Given the description of an element on the screen output the (x, y) to click on. 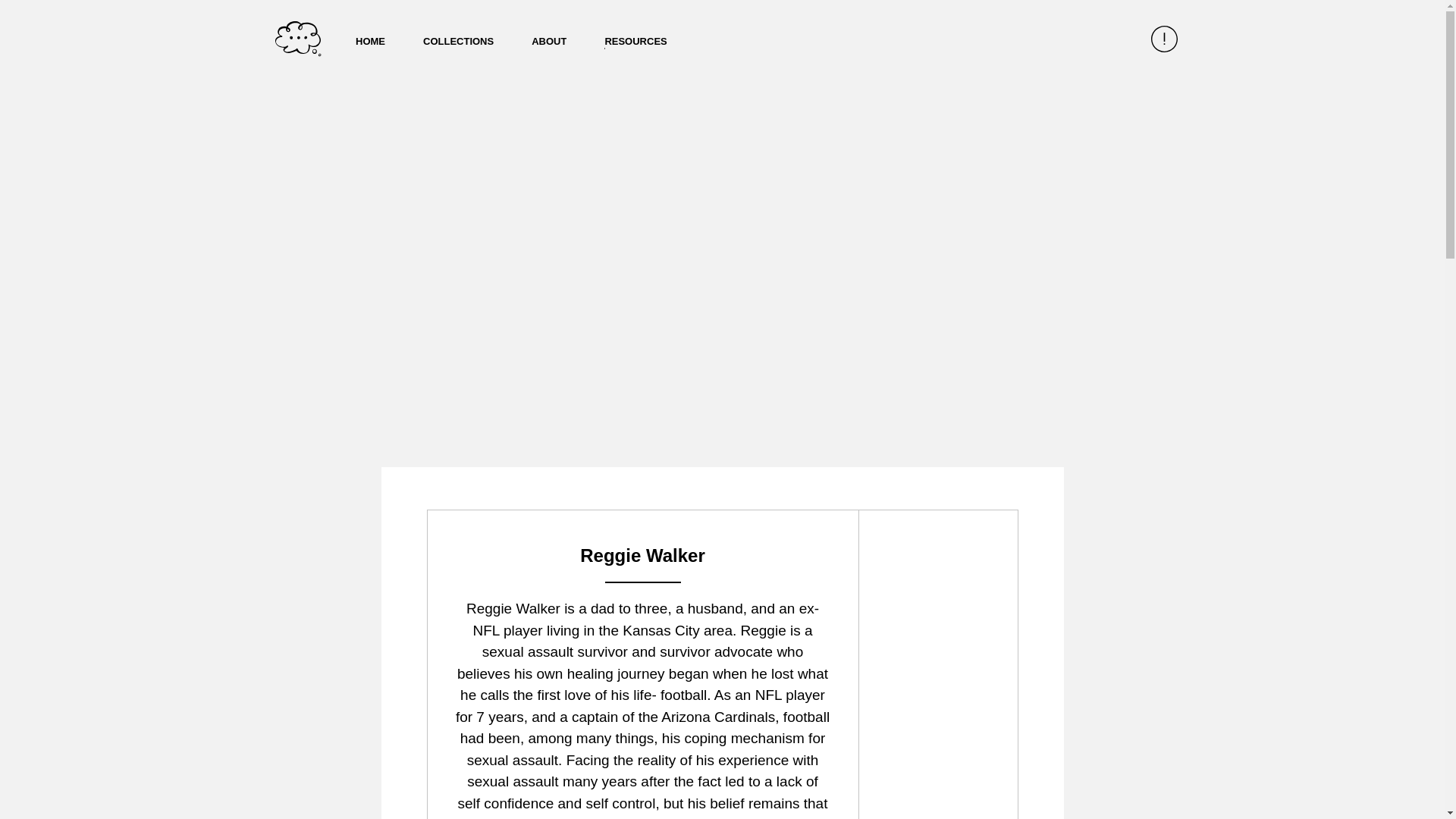
COLLECTIONS (458, 41)
HOME (370, 41)
RESOURCES (635, 41)
ABOUT (548, 41)
